Given the description of an element on the screen output the (x, y) to click on. 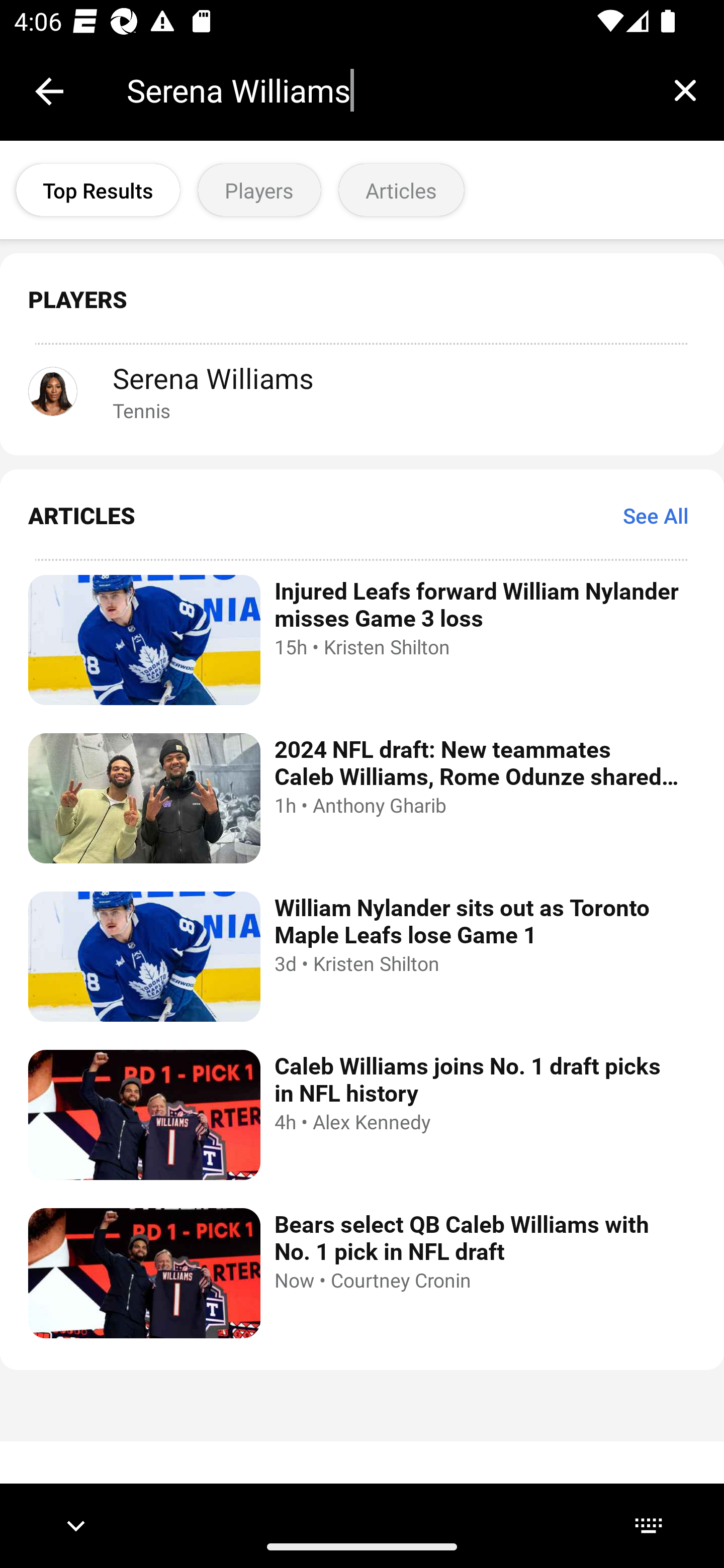
Collapse (49, 91)
Clear query (685, 89)
Serena Williams (386, 90)
Top Results (97, 190)
Players (259, 190)
Articles (401, 190)
Serena Williams : Tennis Serena Williams Tennis (362, 390)
See All (655, 514)
